Given the description of an element on the screen output the (x, y) to click on. 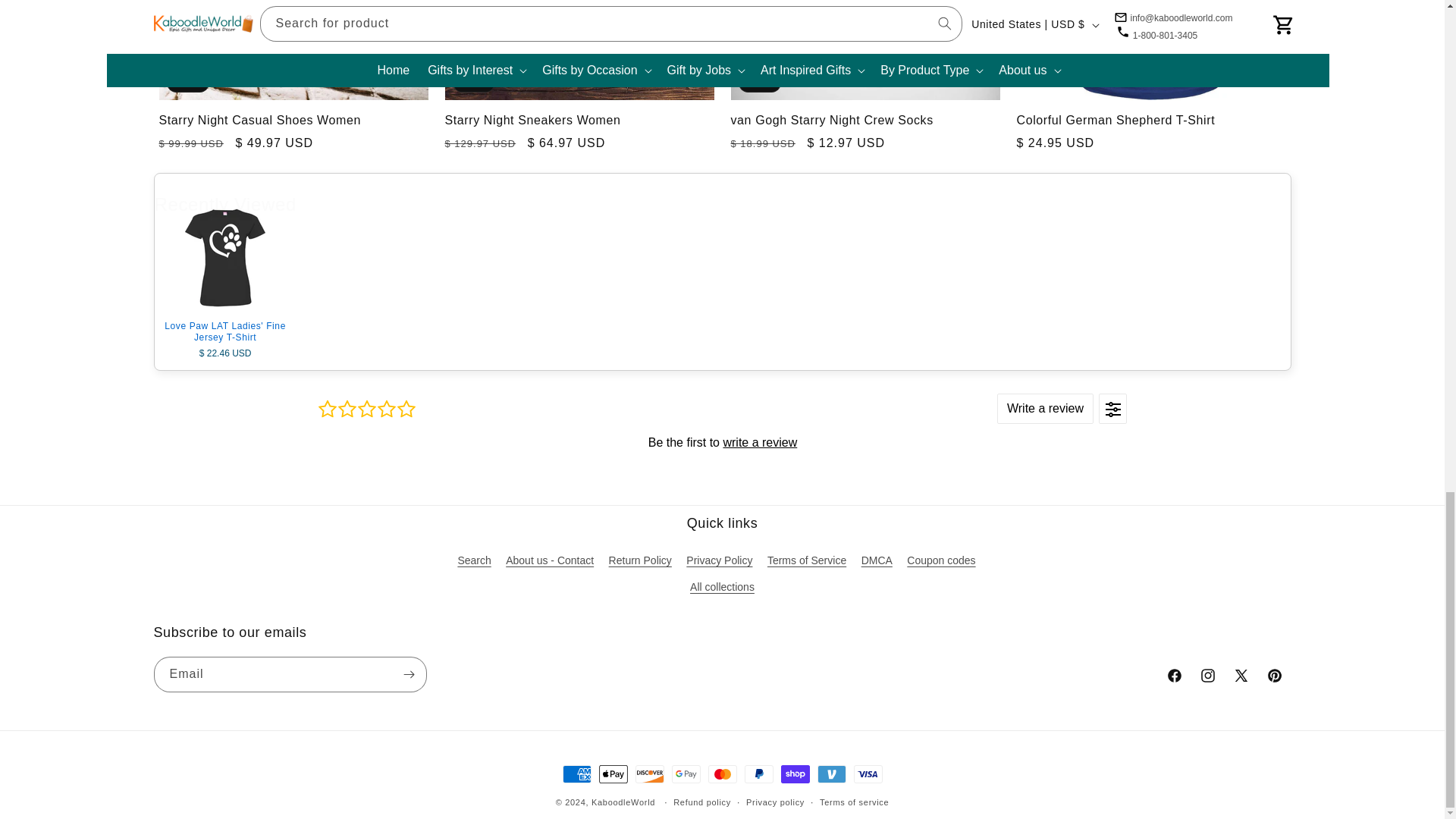
Product reviews widget (722, 441)
Recently Viewed (722, 202)
